Given the description of an element on the screen output the (x, y) to click on. 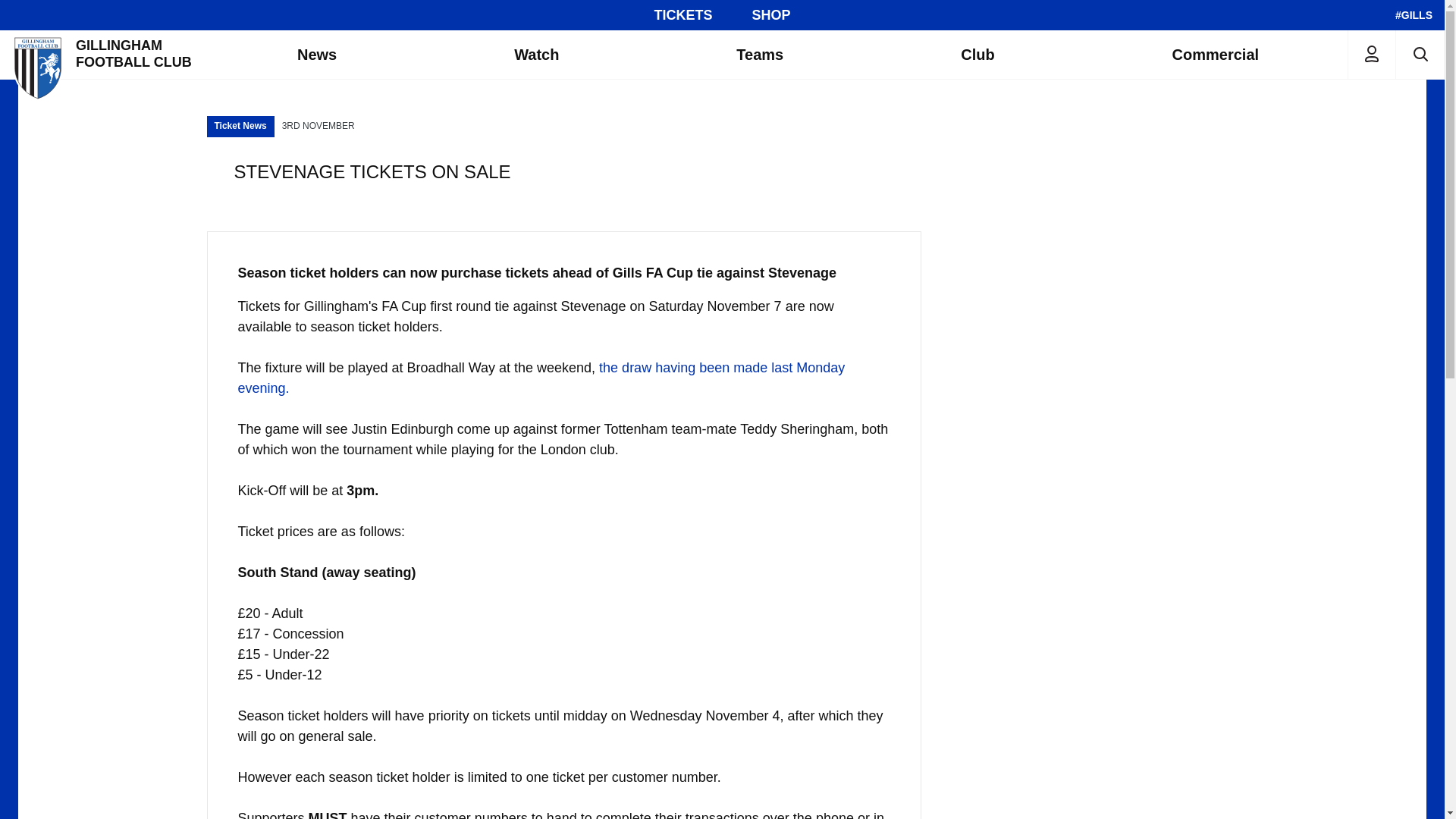
TICKETS (682, 15)
SHOP (771, 15)
Gillingham Football Club (104, 54)
